Given the description of an element on the screen output the (x, y) to click on. 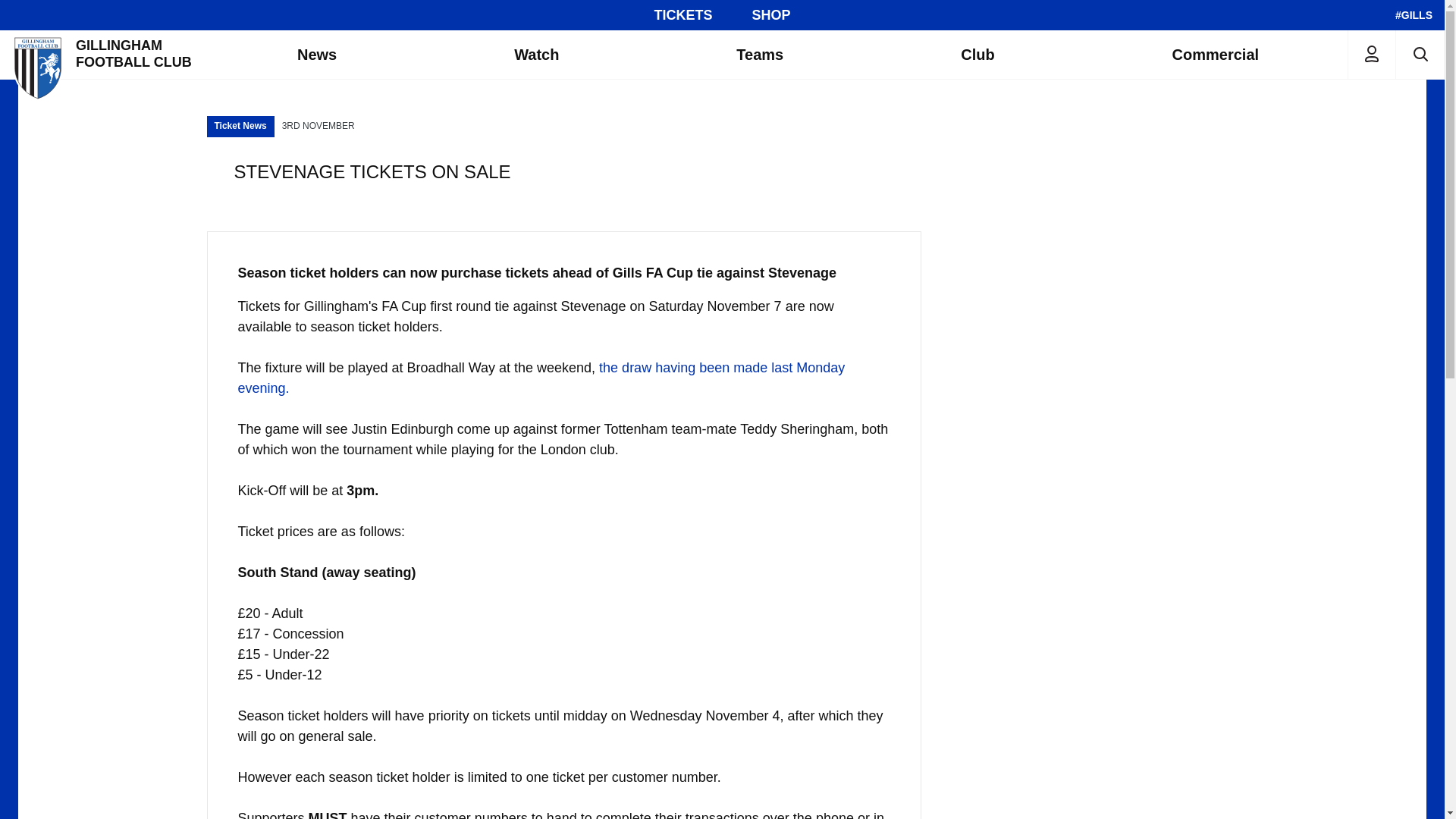
TICKETS (682, 15)
SHOP (771, 15)
Gillingham Football Club (104, 54)
